Given the description of an element on the screen output the (x, y) to click on. 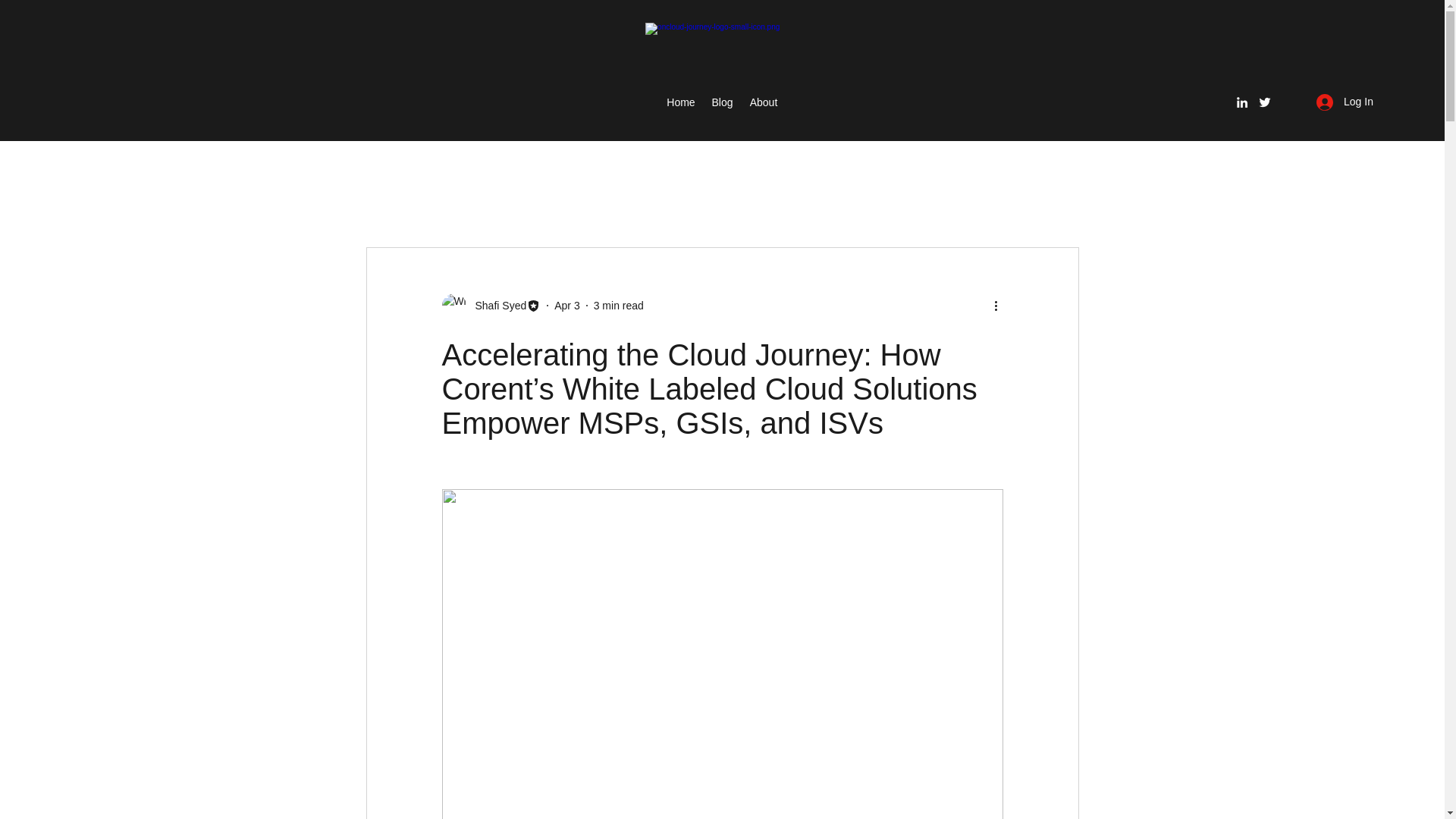
Shafi Syed (495, 304)
Apr 3 (566, 304)
Shafi Syed (490, 305)
About (763, 101)
Blog (722, 101)
3 min read (618, 304)
Home (680, 101)
Log In (1345, 101)
